Given the description of an element on the screen output the (x, y) to click on. 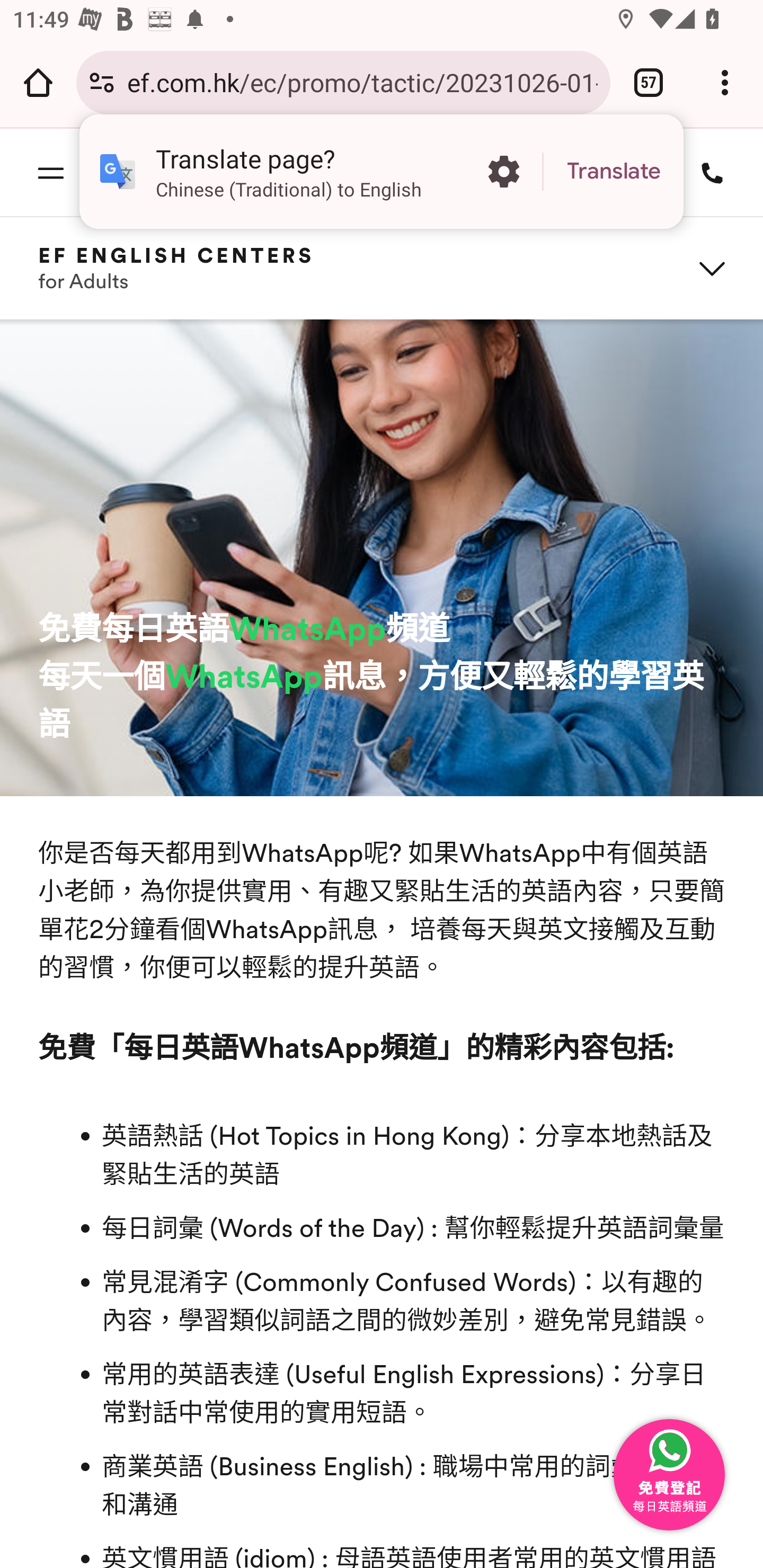
Open the home page (38, 82)
Connection is secure (101, 82)
Switch or close tabs (648, 82)
Customize and control Google Chrome (724, 82)
Translate (613, 171)
More options in the Translate page? (503, 171)
tel:+85231133583 (705, 171)
